Given the description of an element on the screen output the (x, y) to click on. 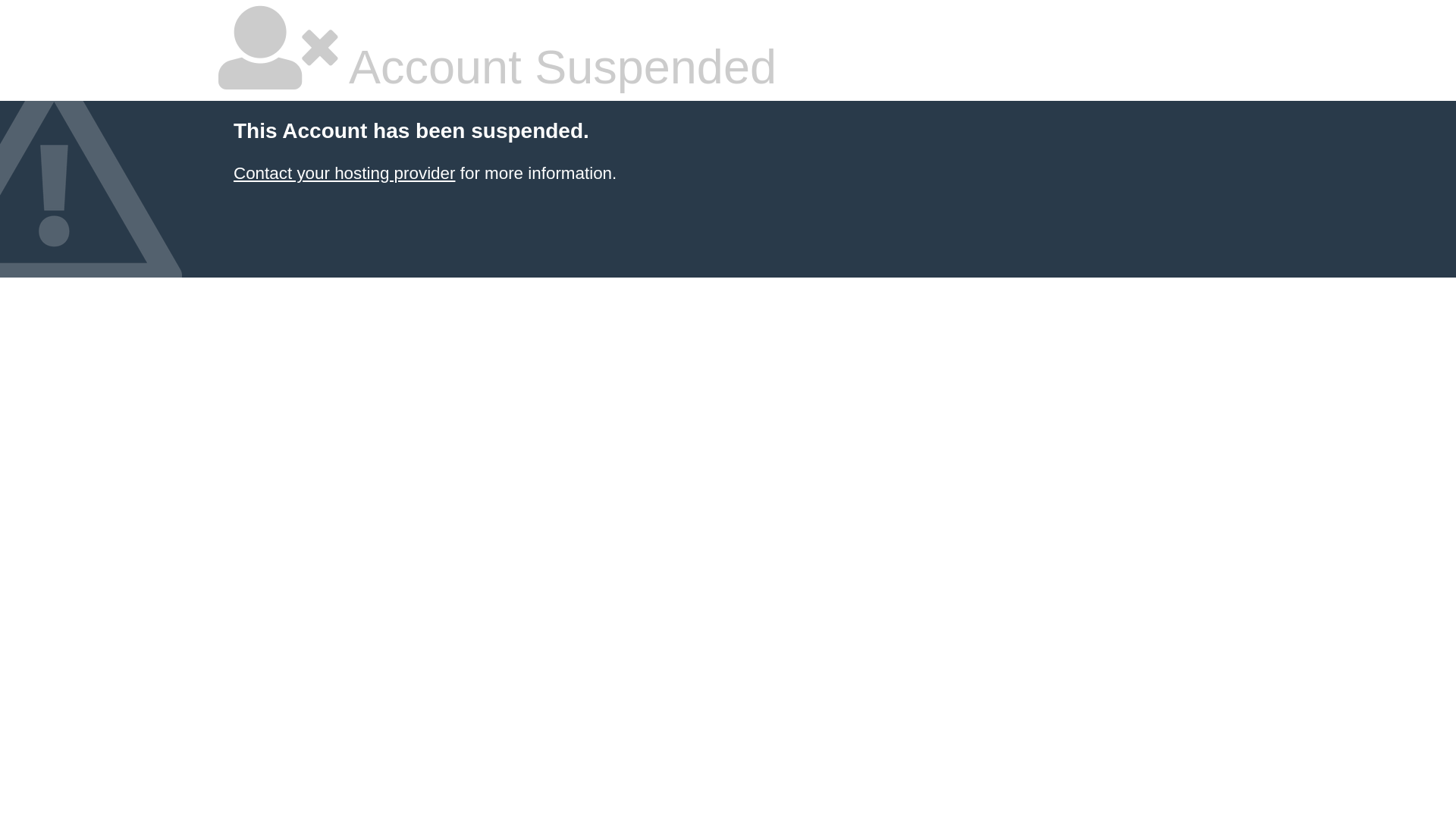
Contact your hosting provider Element type: text (344, 172)
